Given the description of an element on the screen output the (x, y) to click on. 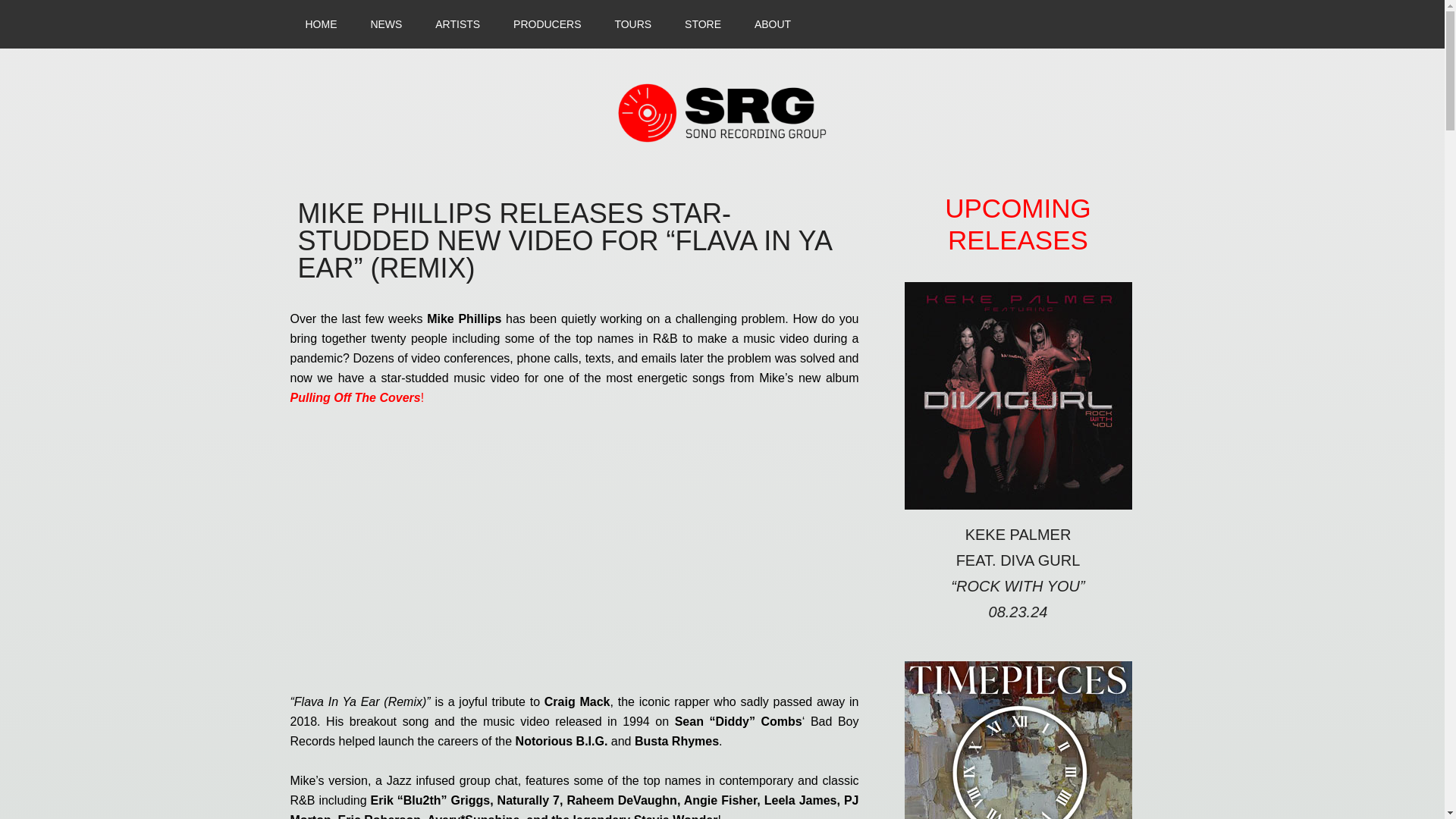
PRODUCERS (546, 24)
HOME (320, 24)
about (772, 24)
TOURS (632, 24)
producers (546, 24)
tours (632, 24)
STORE (702, 24)
ABOUT (772, 24)
Artists (457, 24)
